Given the description of an element on the screen output the (x, y) to click on. 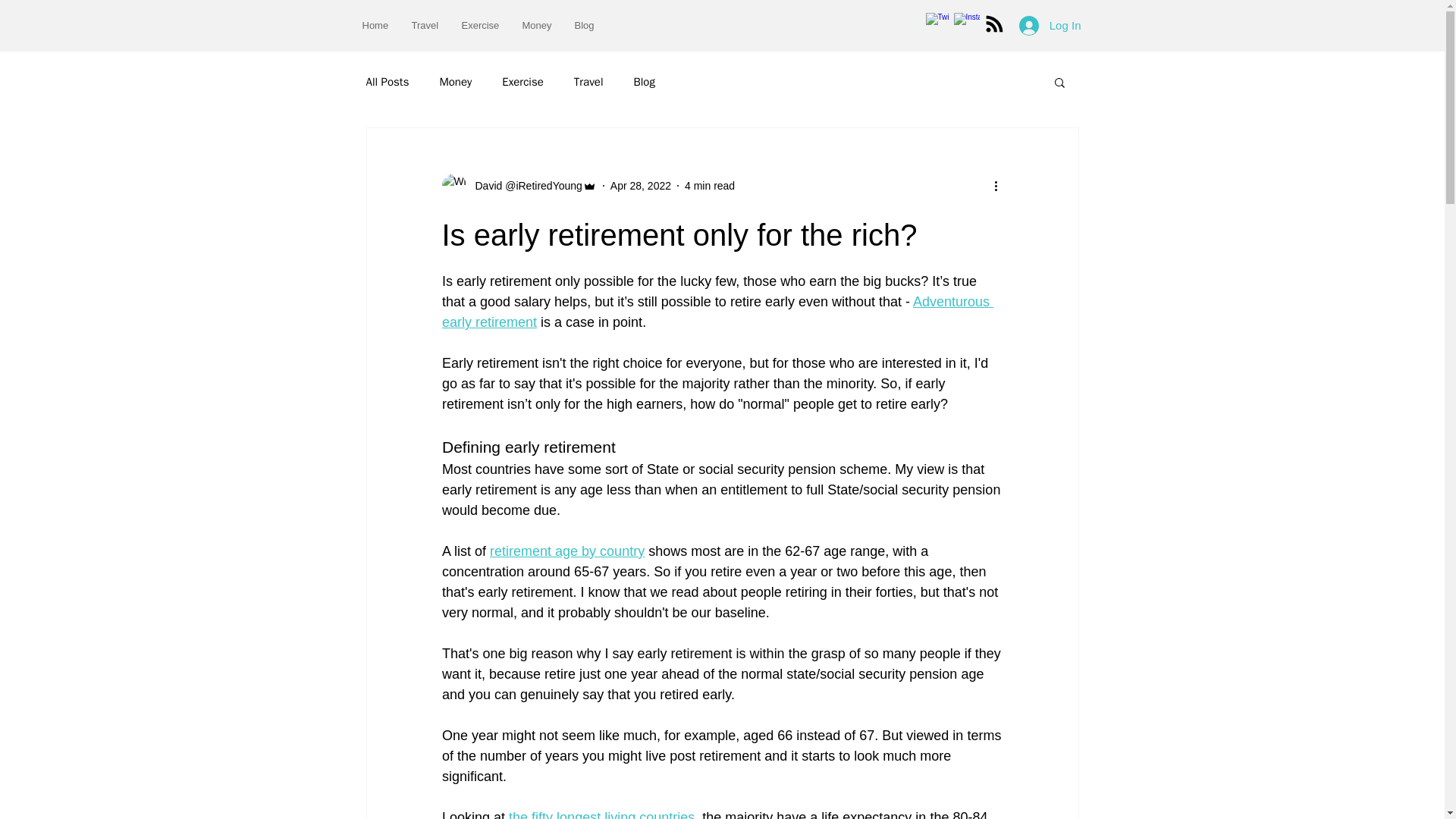
Home (374, 25)
Adventurous early retirement (716, 312)
Log In (1050, 24)
the fifty longest living countries (601, 814)
Money (455, 81)
Exercise (522, 81)
Travel (588, 81)
Travel (424, 25)
Blog (643, 81)
retirement age by country (567, 549)
Money (537, 25)
4 min read (709, 184)
All Posts (387, 81)
Blog (583, 25)
Exercise (480, 25)
